Given the description of an element on the screen output the (x, y) to click on. 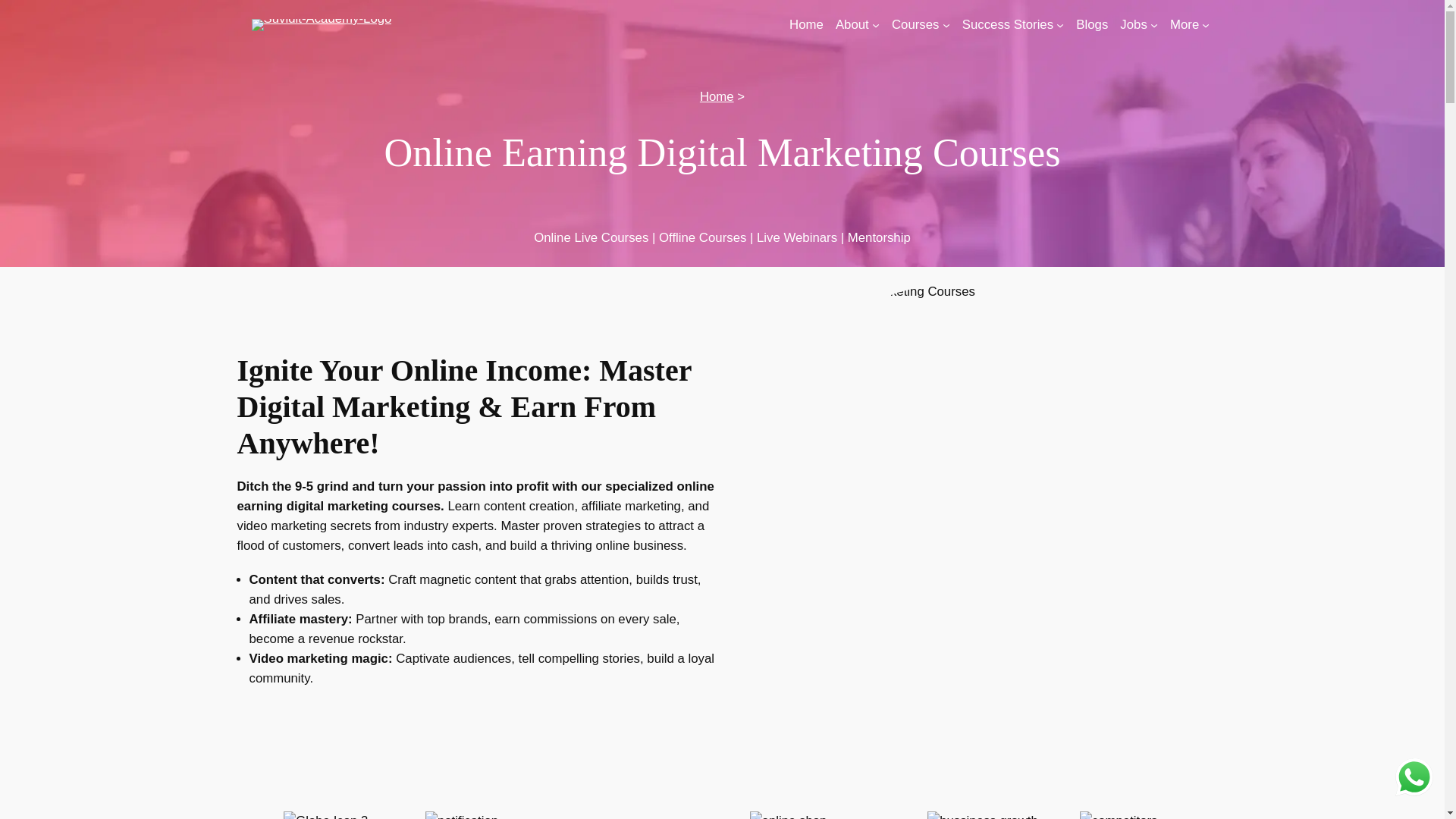
Jobs (1133, 25)
About (852, 25)
Success Stories (1007, 25)
Blogs (1091, 25)
Go to Suvidit Academy. (716, 96)
More (1184, 25)
Courses (915, 25)
WhatsApp us (1413, 777)
Home (806, 25)
